Given the description of an element on the screen output the (x, y) to click on. 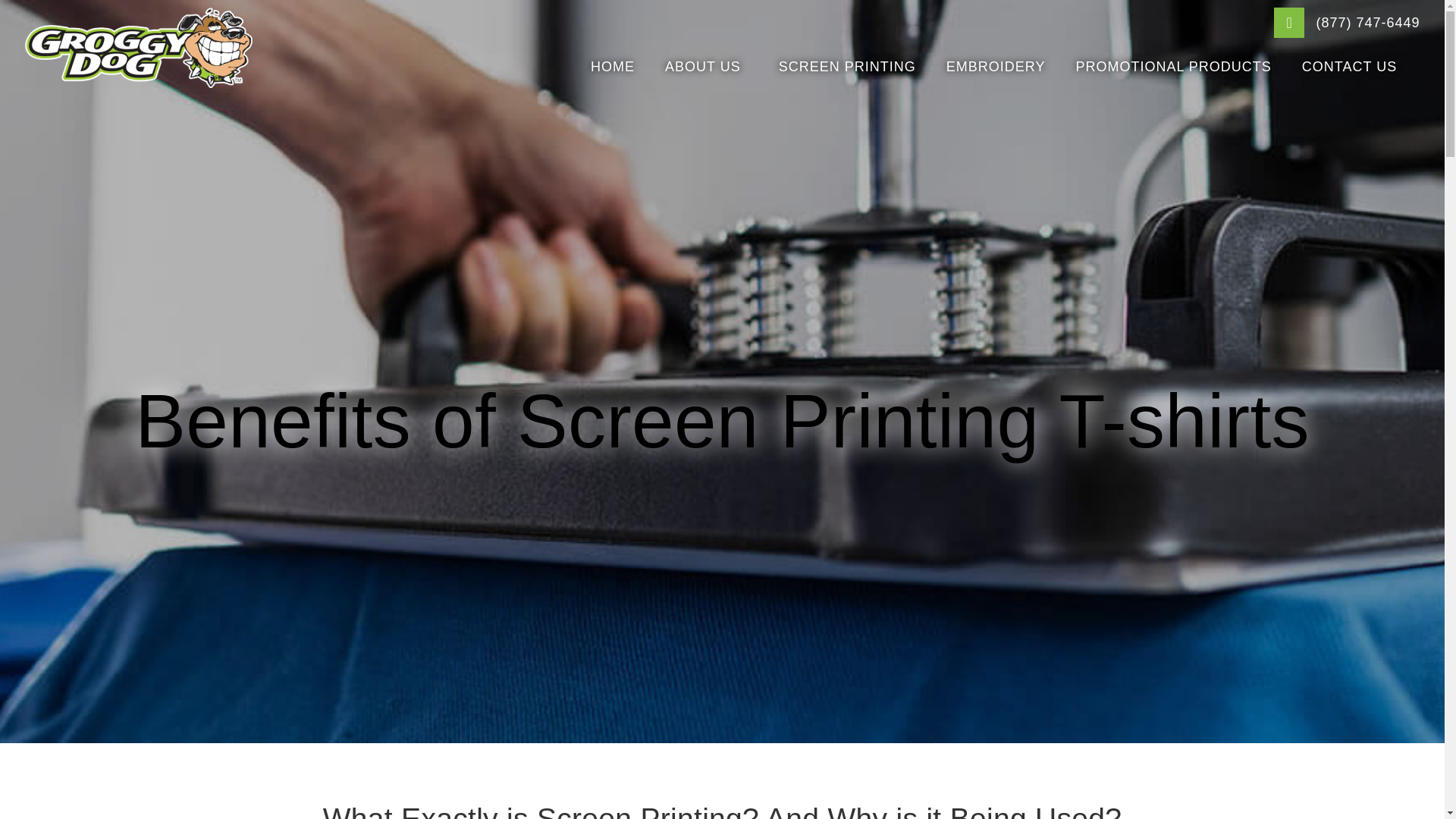
EMBROIDERY (996, 66)
PROMOTIONAL PRODUCTS (1172, 66)
HOME (612, 66)
ABOUT US (705, 66)
logo (137, 47)
CONTACT US (1353, 66)
SCREEN PRINTING (846, 66)
